Given the description of an element on the screen output the (x, y) to click on. 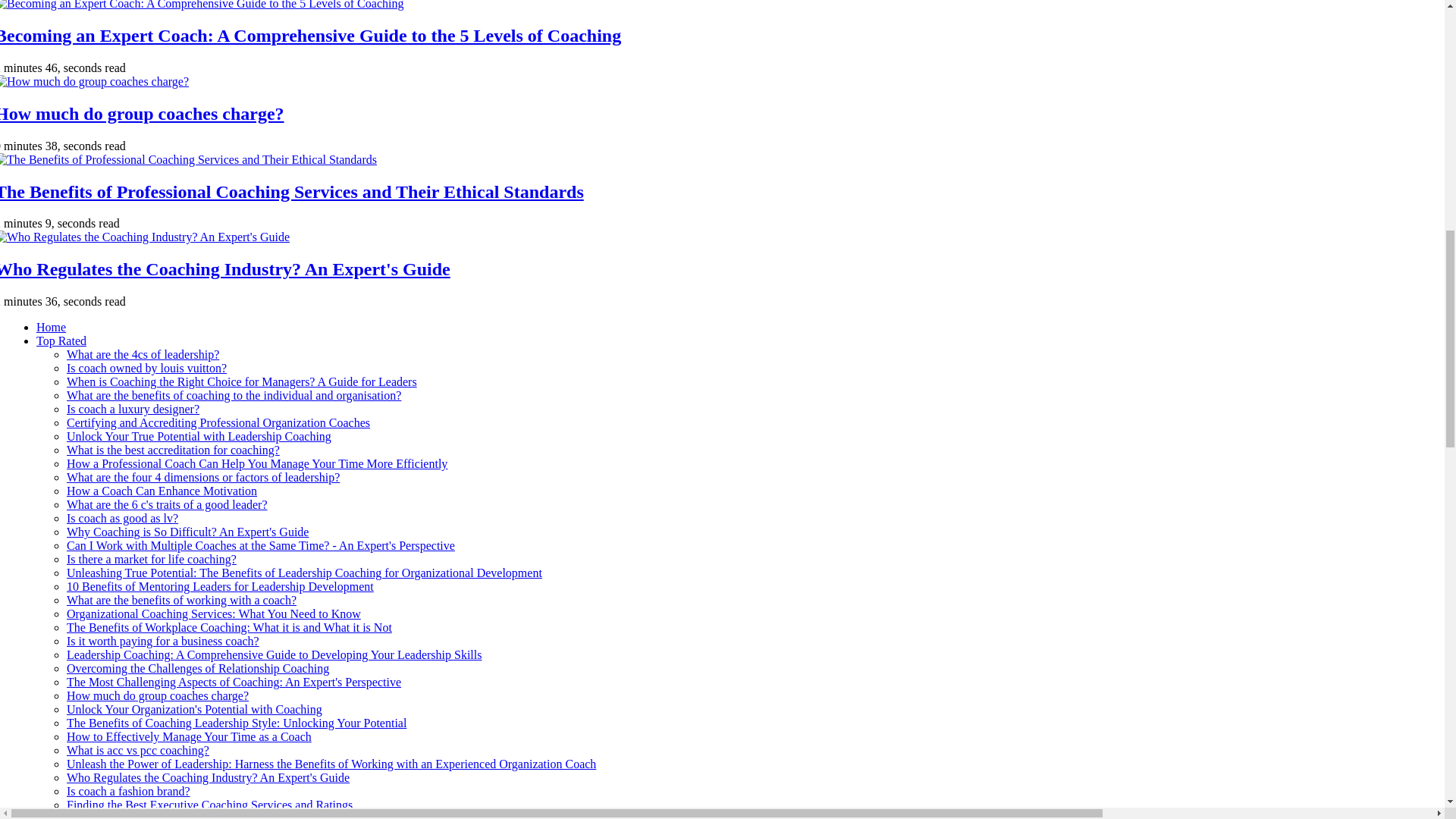
How much do group coaches charge? (141, 113)
Is coach a luxury designer? (132, 408)
Certifying and Accrediting Professional Organization Coaches (217, 422)
What are the four 4 dimensions or factors of leadership? (202, 477)
Home (50, 327)
Unlock Your True Potential with Leadership Coaching (198, 436)
Top Rated (60, 340)
Who Regulates the Coaching Industry? An Expert's Guide (224, 269)
Is coach owned by louis vuitton? (146, 367)
What is the best accreditation for coaching? (172, 449)
